Given the description of an element on the screen output the (x, y) to click on. 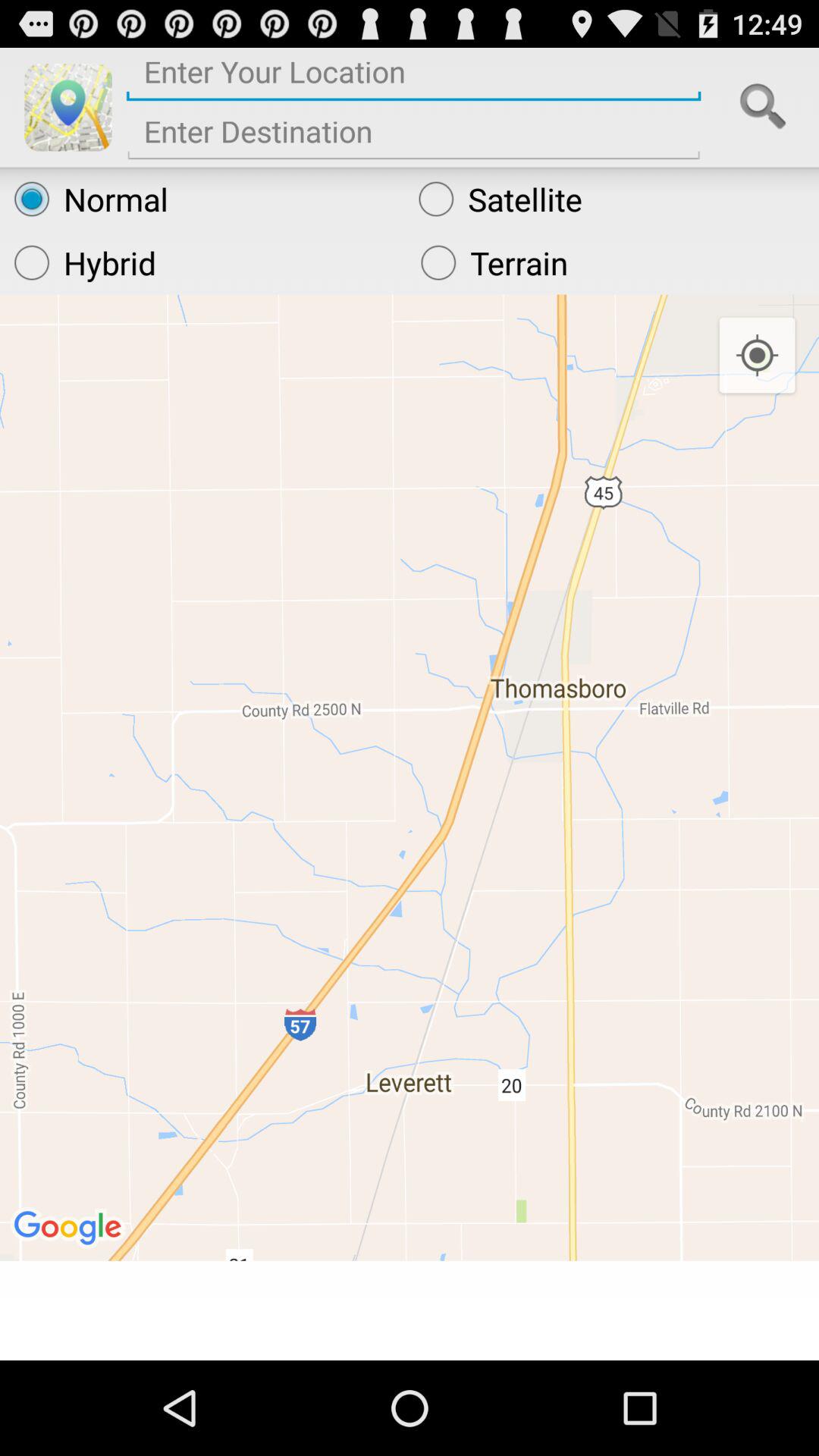
press satellite radio button (611, 198)
